Given the description of an element on the screen output the (x, y) to click on. 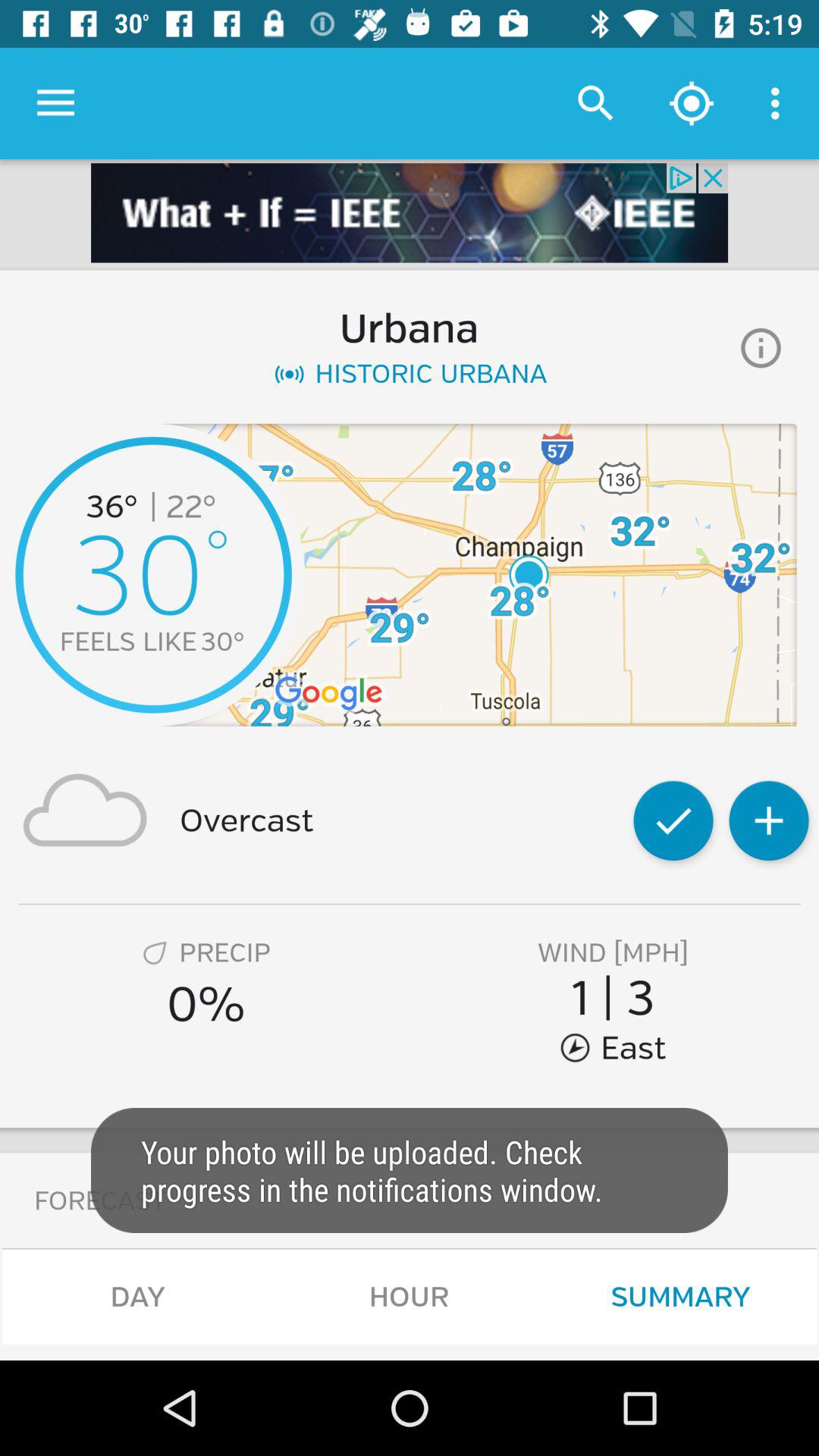
click on the text below the urbana (409, 373)
select the blue colored circle with number 30 (153, 574)
click the blue color circle above overcast option (153, 574)
